Given the description of an element on the screen output the (x, y) to click on. 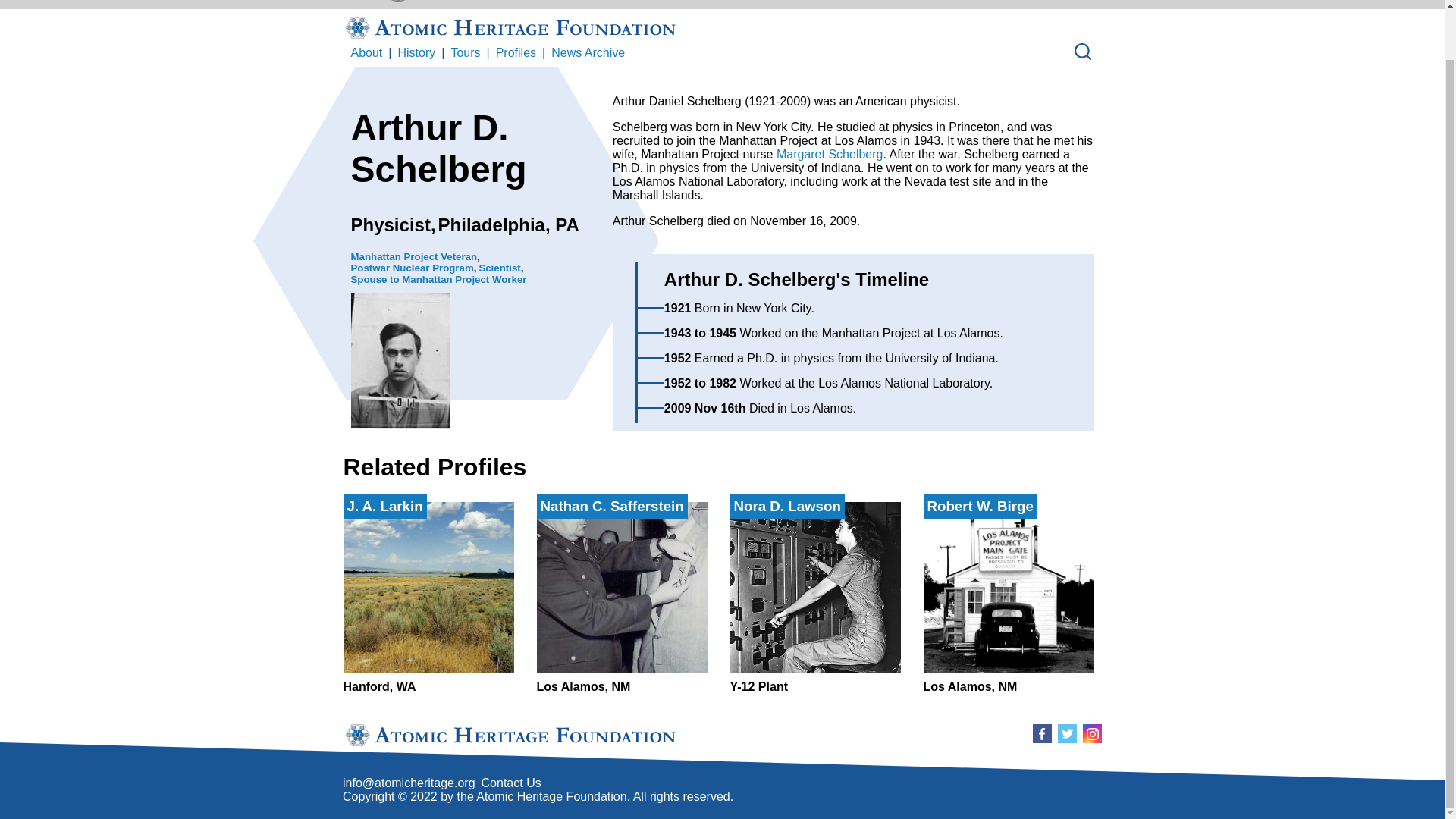
News Archive (587, 52)
Postwar Nuclear Program (411, 267)
Manhattan Project Veteran (413, 256)
Tours (464, 52)
Contact Us (510, 783)
About (365, 52)
Spouse to Manhattan Project Worker (437, 279)
Profiles (515, 52)
History (1008, 597)
Margaret Schelberg (622, 597)
Scientist (416, 52)
